Given the description of an element on the screen output the (x, y) to click on. 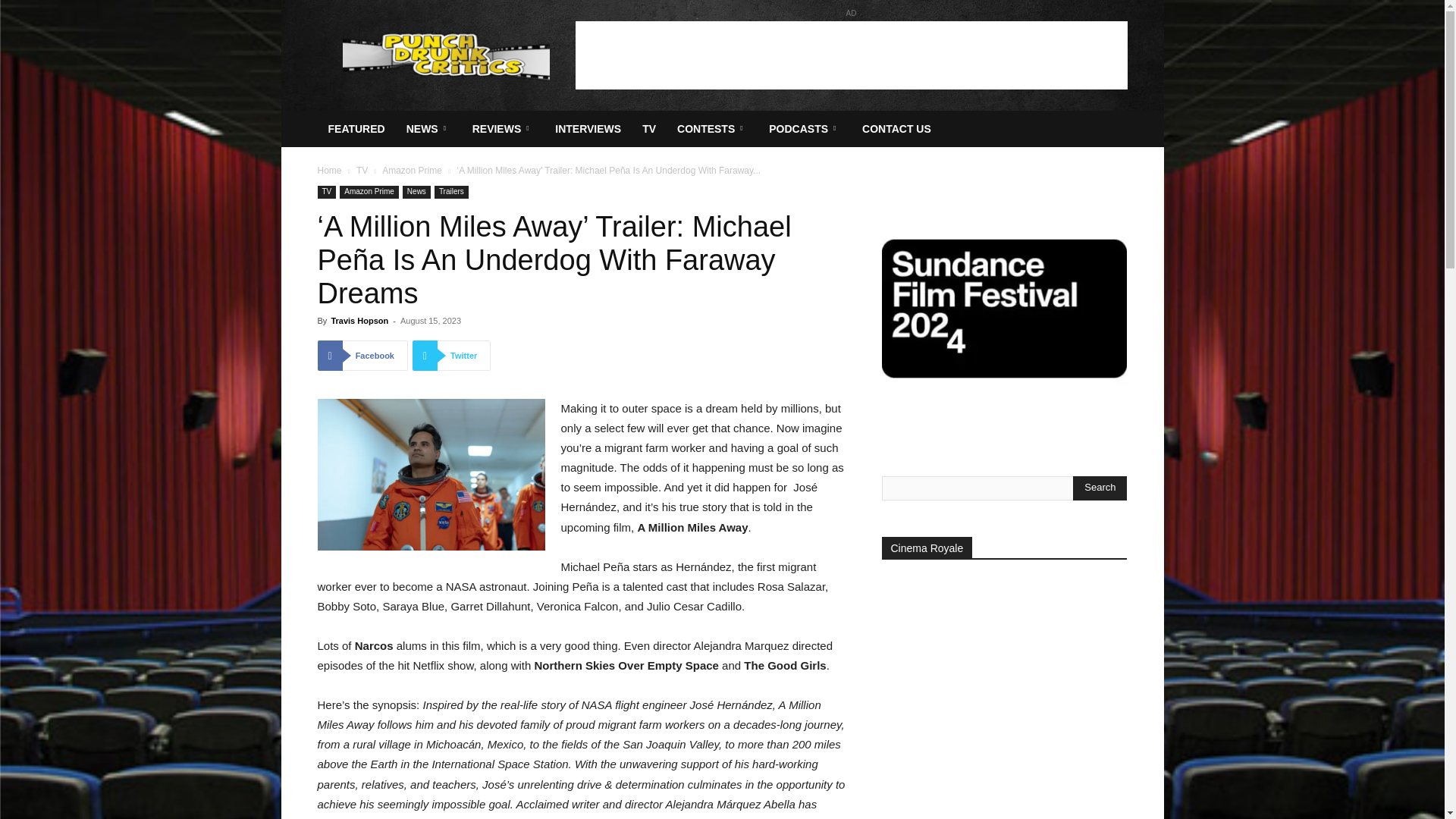
View all posts in Amazon Prime (411, 170)
View all posts in TV (362, 170)
Facebook (362, 355)
Twitter (451, 355)
NEWS (428, 128)
Search (1099, 487)
REVIEWS (502, 128)
FEATURED (355, 128)
